Given the description of an element on the screen output the (x, y) to click on. 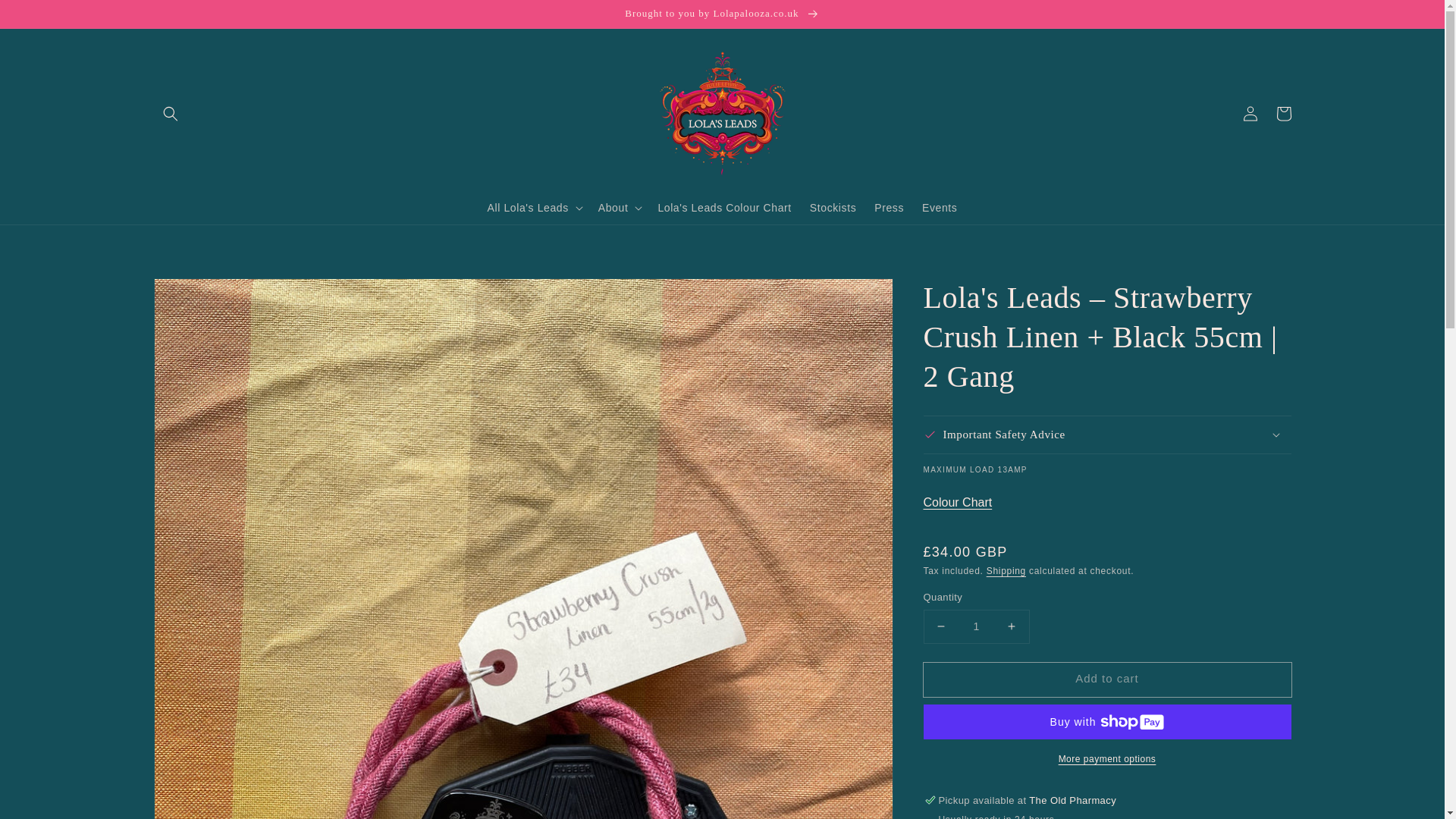
Events (939, 207)
1 (976, 626)
Skip to content (45, 16)
Cart (1283, 113)
Stockists (832, 207)
Press (888, 207)
Log in (1249, 113)
Lola's Leads Colour Chart (723, 207)
